Given the description of an element on the screen output the (x, y) to click on. 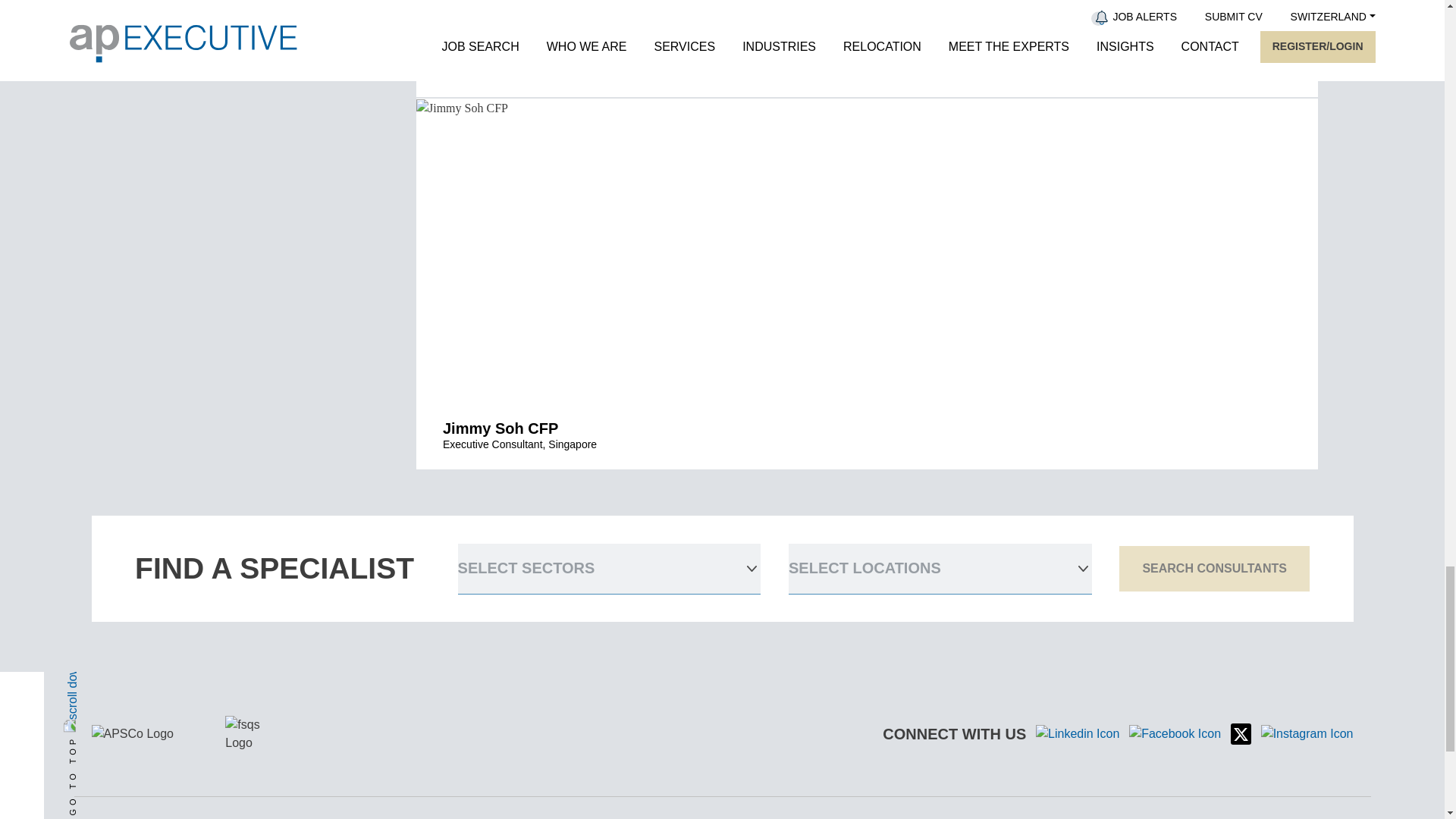
GO TO TOP (158, 632)
